Given the description of an element on the screen output the (x, y) to click on. 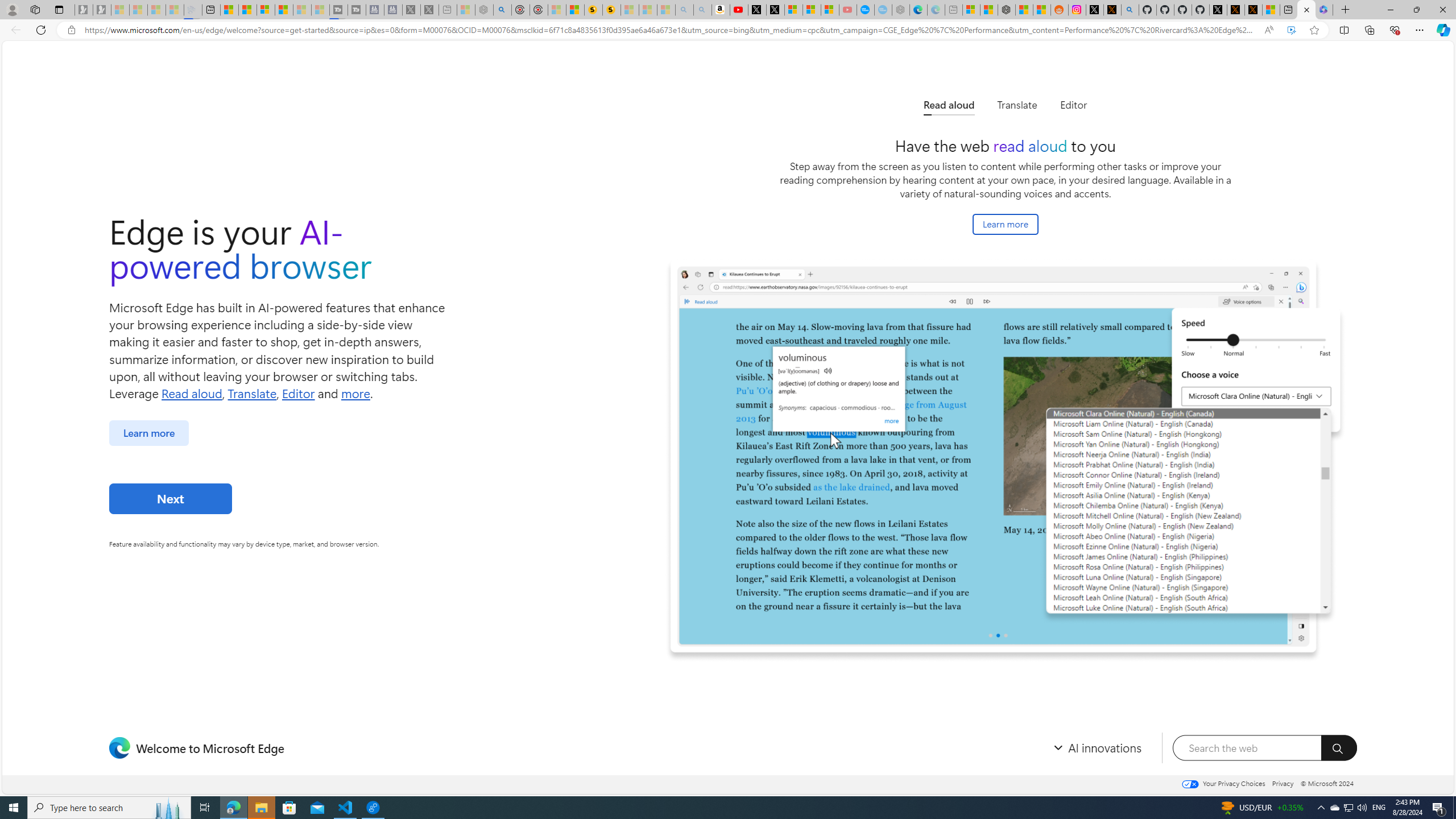
help.x.com | 524: A timeout occurred (1112, 9)
Log in to X / X (1094, 9)
Nordace - Nordace has arrived Hong Kong - Sleeping (900, 9)
amazon - Search - Sleeping (684, 9)
Enhance video (1291, 29)
Amazon Echo Dot PNG - Search Images - Sleeping (702, 9)
Wildlife - MSN - Sleeping (466, 9)
Shanghai, China Weather trends | Microsoft Weather (1041, 9)
X Privacy Policy (1253, 9)
